Given the description of an element on the screen output the (x, y) to click on. 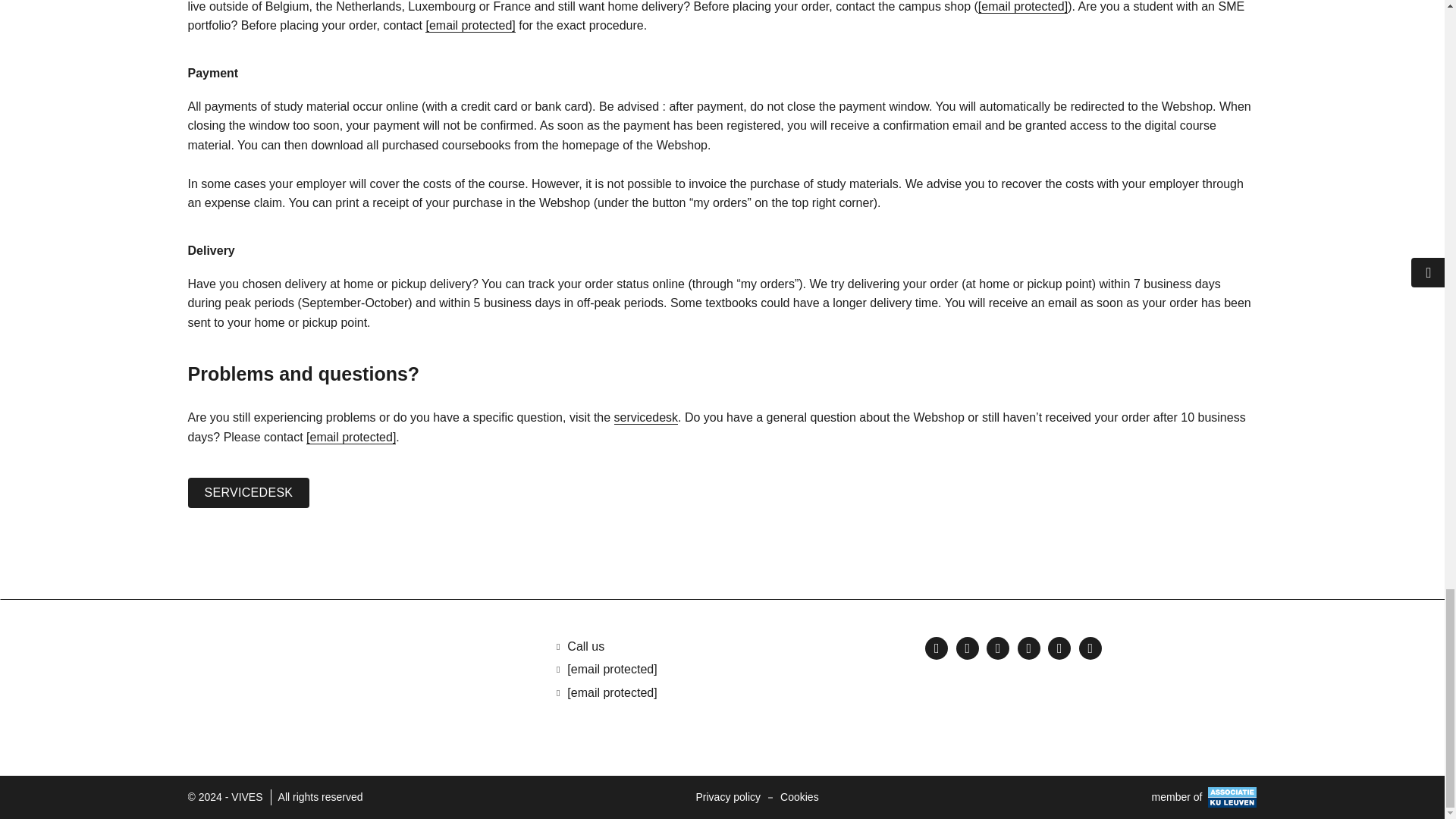
TikTok (1029, 648)
